Given the description of an element on the screen output the (x, y) to click on. 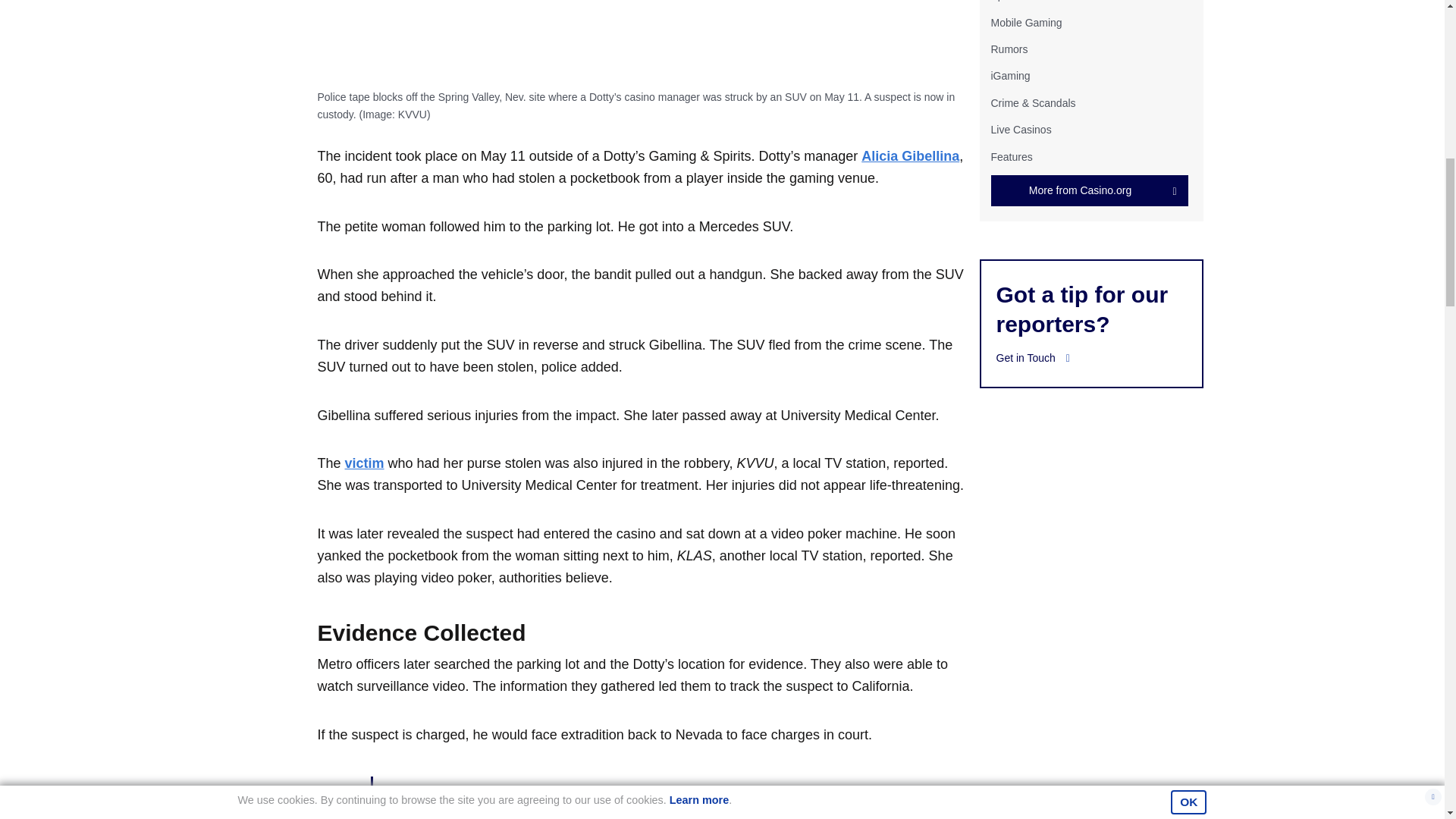
Mobile Gaming (1025, 22)
Sports (1005, 0)
Rumors (1008, 49)
Live Casinos (1020, 129)
Features (1011, 155)
victim (364, 462)
Alicia Gibellina (910, 155)
iGaming (1009, 75)
